Given the description of an element on the screen output the (x, y) to click on. 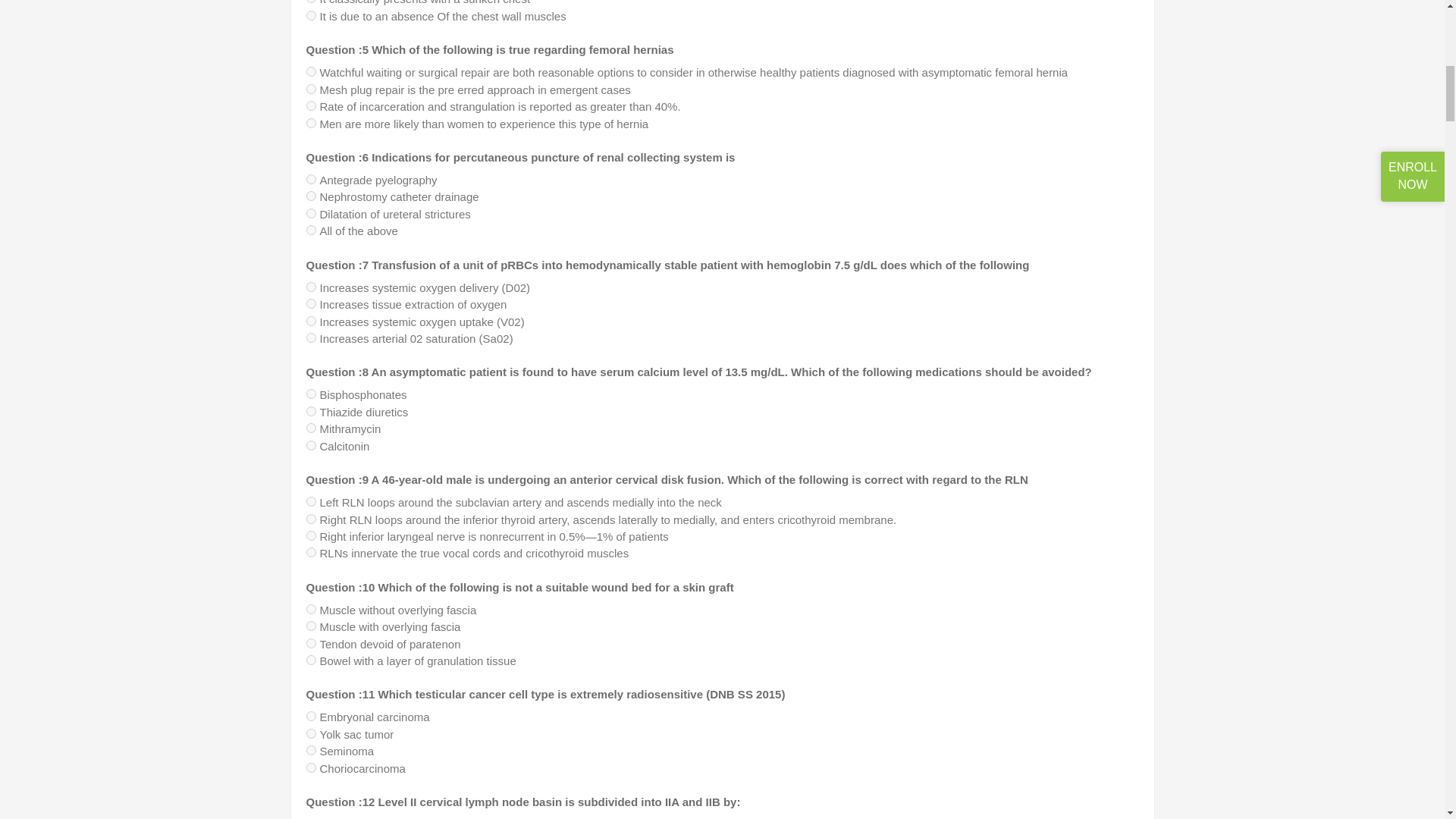
2 (310, 89)
1 (310, 71)
4 (310, 122)
4 (310, 15)
3 (310, 105)
3 (310, 1)
